Given the description of an element on the screen output the (x, y) to click on. 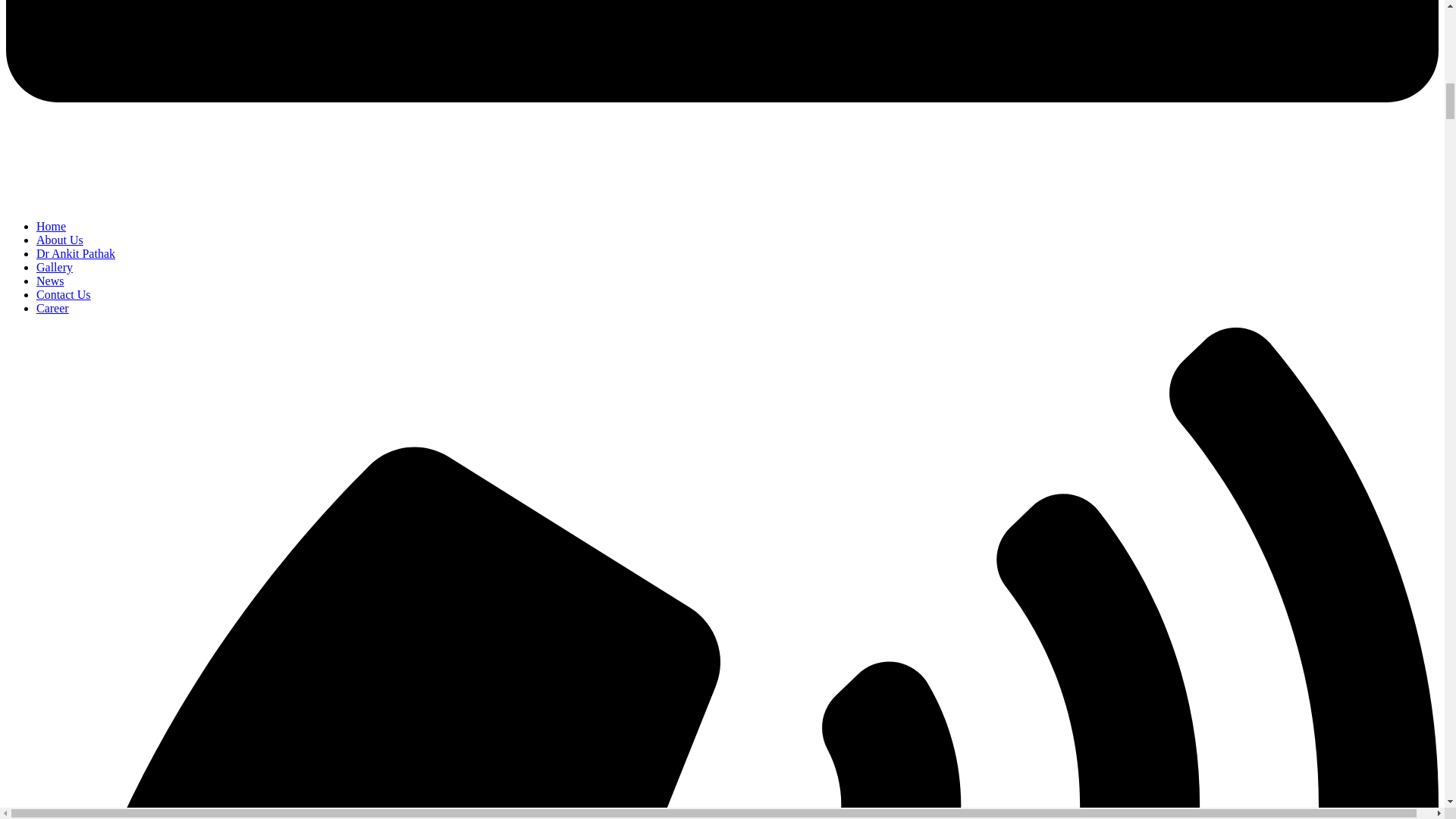
Career (52, 308)
Contact Us (63, 294)
Home (50, 226)
About Us (59, 239)
Gallery (54, 267)
Dr Ankit Pathak (75, 253)
News (50, 280)
